Given the description of an element on the screen output the (x, y) to click on. 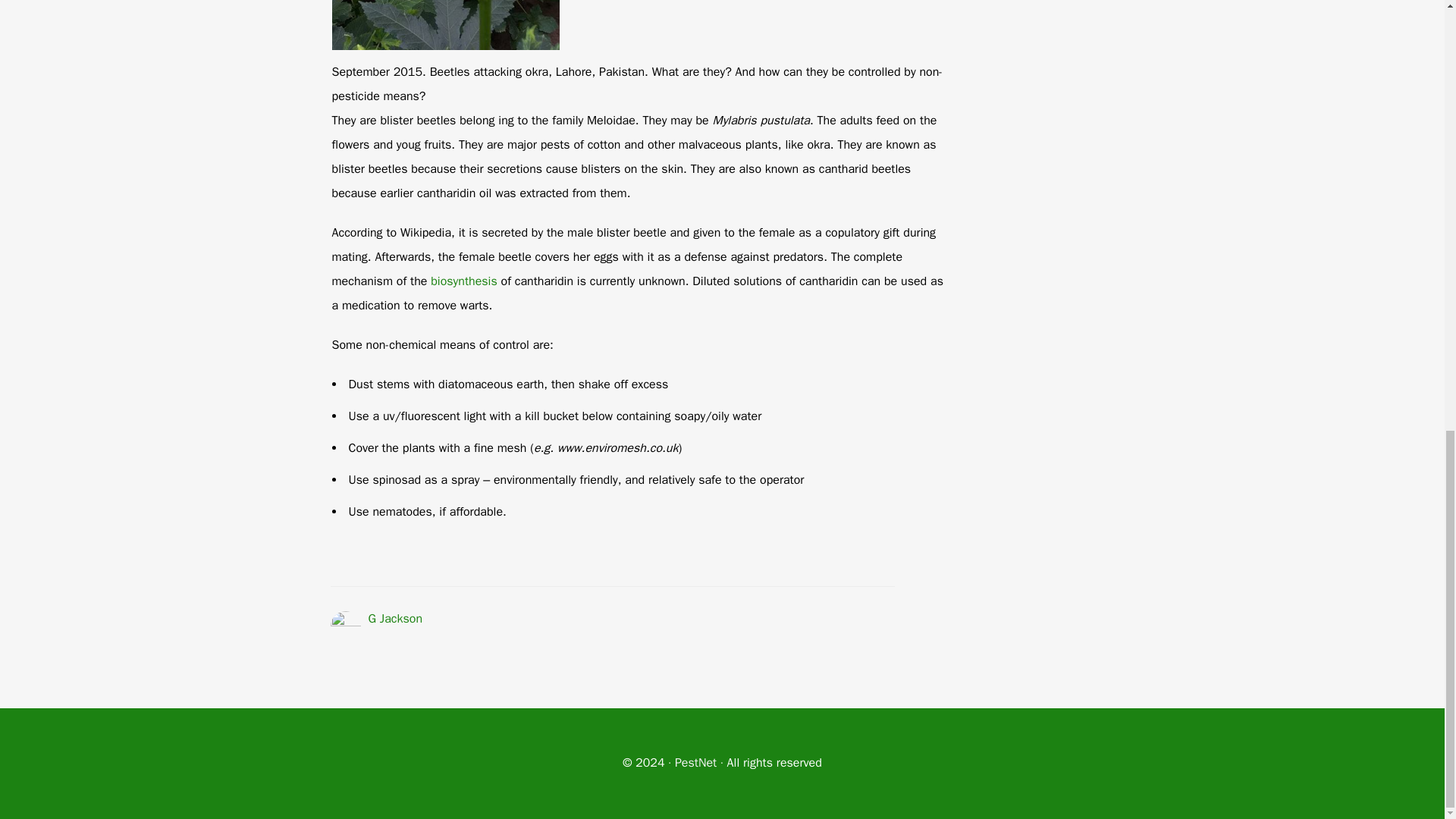
G Jackson (395, 618)
biosynthesis (463, 281)
Biosynthesis (463, 281)
PestNet (695, 762)
